Given the description of an element on the screen output the (x, y) to click on. 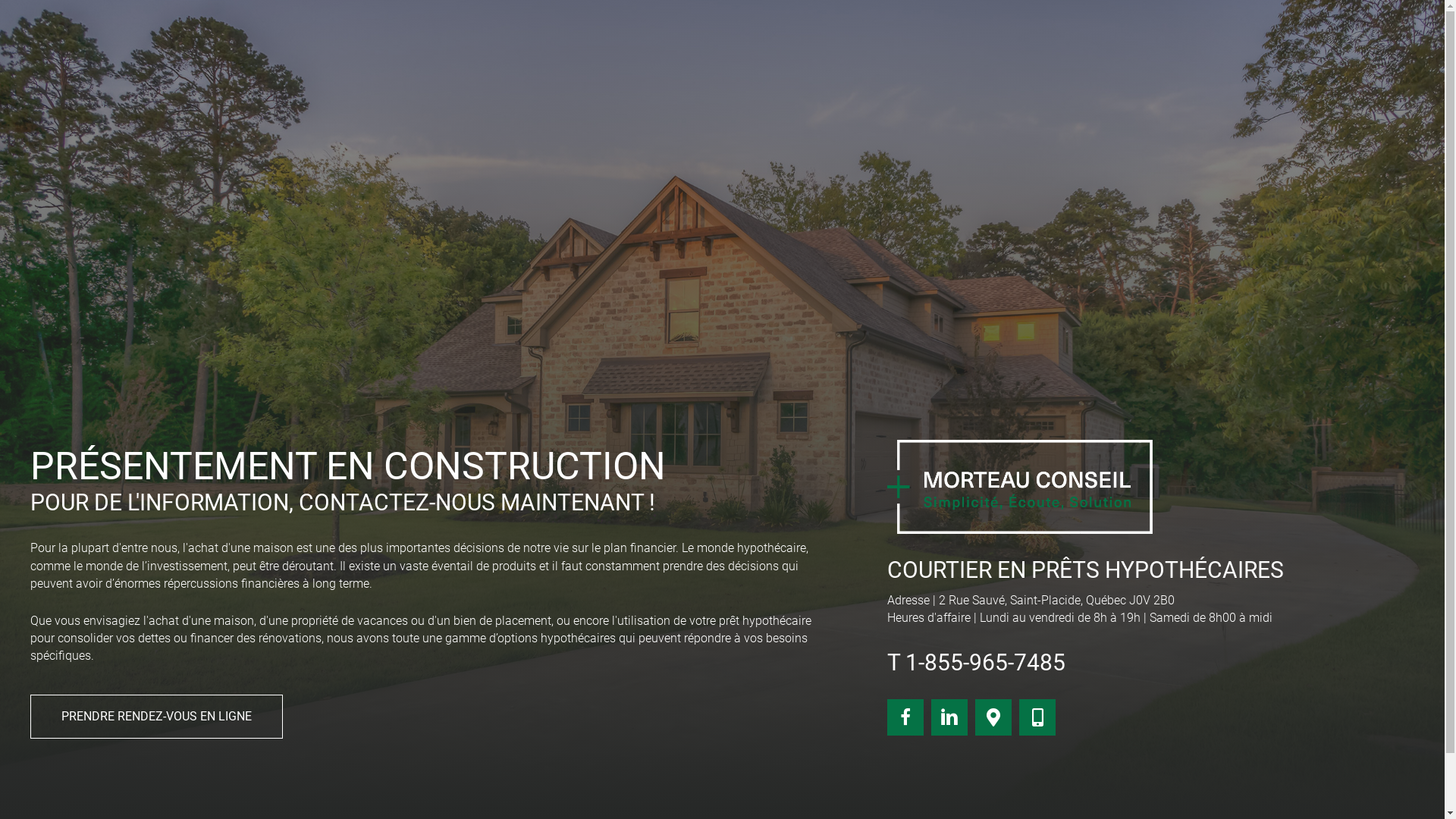
logo-2022-blanc-morteau-conseil Element type: hover (1019, 486)
PRENDRE RENDEZ-VOUS EN LIGNE Element type: text (156, 716)
